Given the description of an element on the screen output the (x, y) to click on. 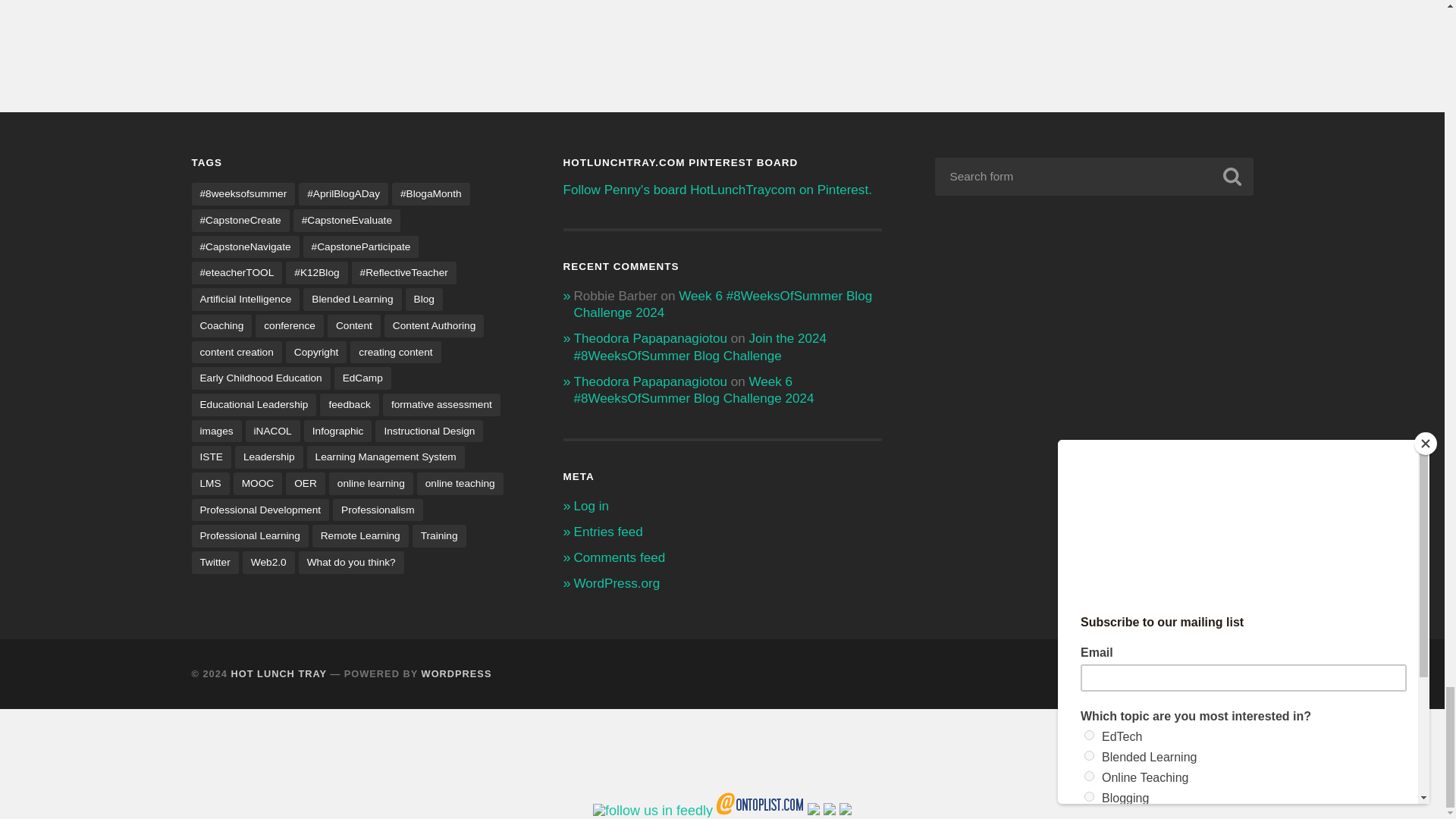
Search (1230, 176)
Search (1230, 176)
